Given the description of an element on the screen output the (x, y) to click on. 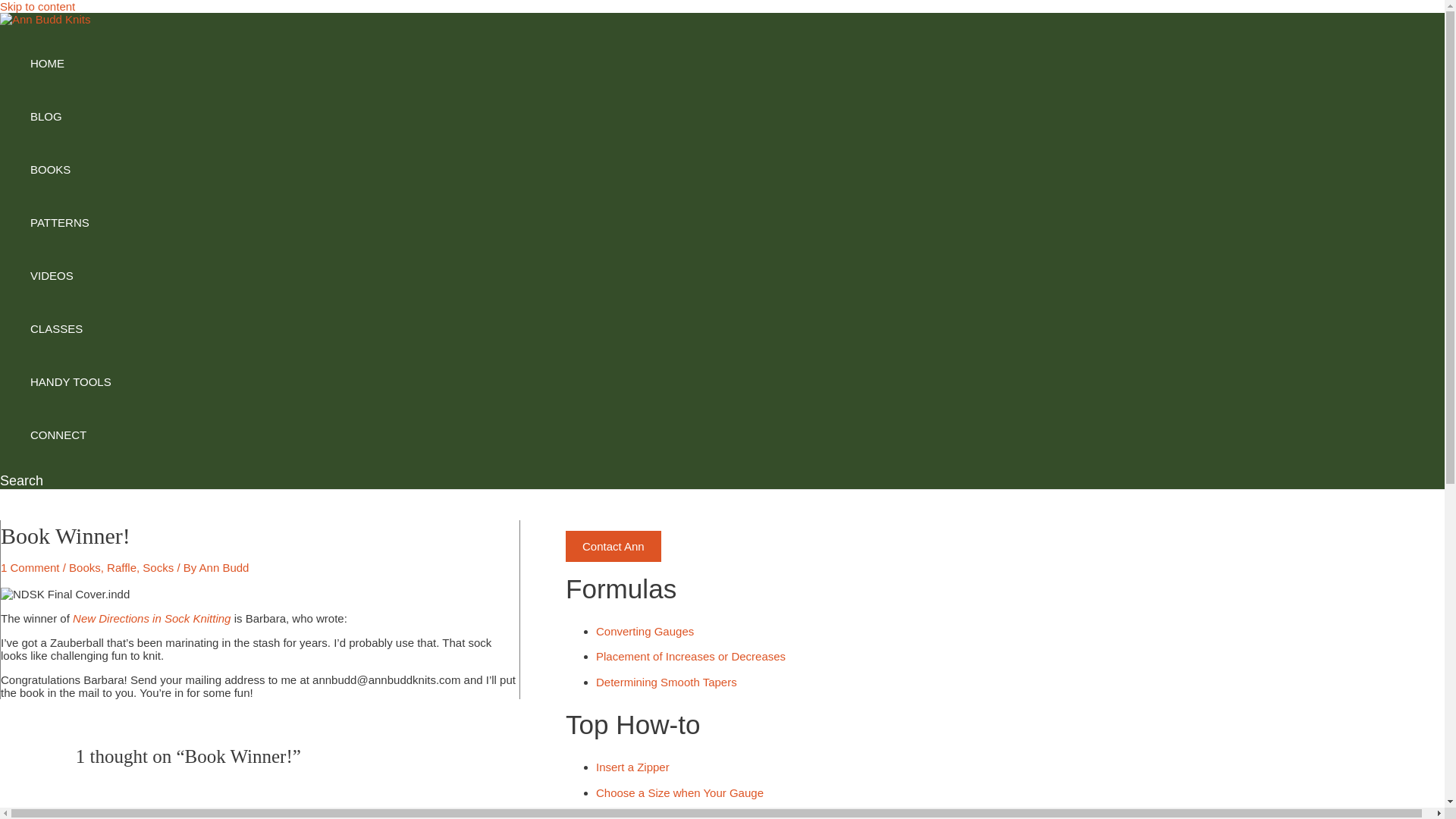
CONNECT (71, 434)
blog (71, 116)
Raffle (121, 567)
Converting Gauges (644, 631)
Insert a Zipper (632, 766)
BLOG (71, 116)
BOOKS (71, 169)
HANDY TOOLS (71, 381)
New Directions in Sock Knitting (151, 617)
Placement of Increases or Decreases (690, 656)
Socks (157, 567)
CLASSES (71, 328)
1 Comment (30, 567)
Search (21, 480)
Books (84, 567)
